Given the description of an element on the screen output the (x, y) to click on. 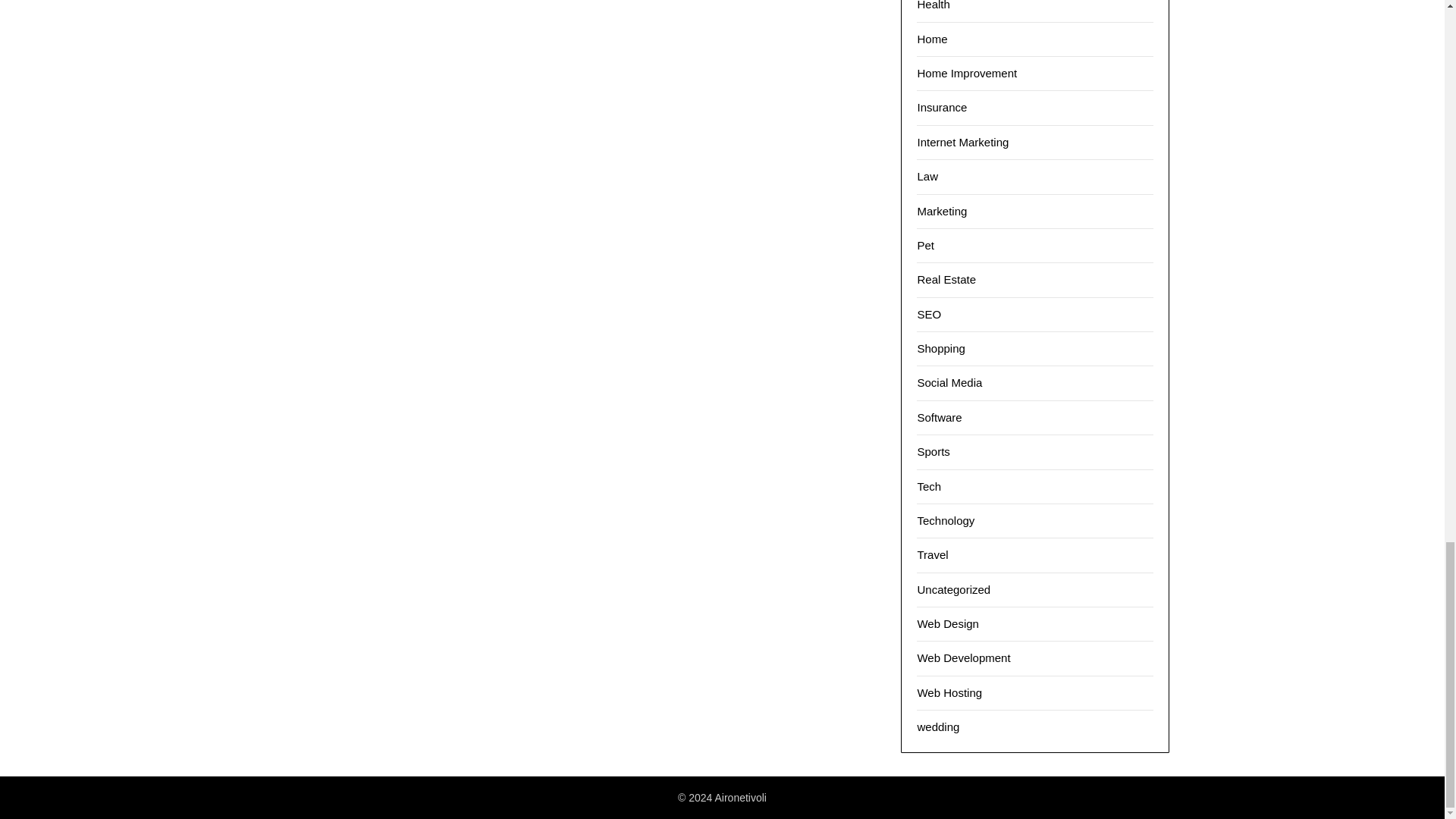
Internet Marketing (963, 141)
Law (927, 175)
Home (932, 38)
Insurance (941, 106)
Real Estate (946, 278)
Pet (925, 245)
SEO (928, 314)
Shopping (940, 348)
Social Media (949, 382)
Marketing (941, 210)
Home Improvement (966, 72)
Health (933, 5)
